Given the description of an element on the screen output the (x, y) to click on. 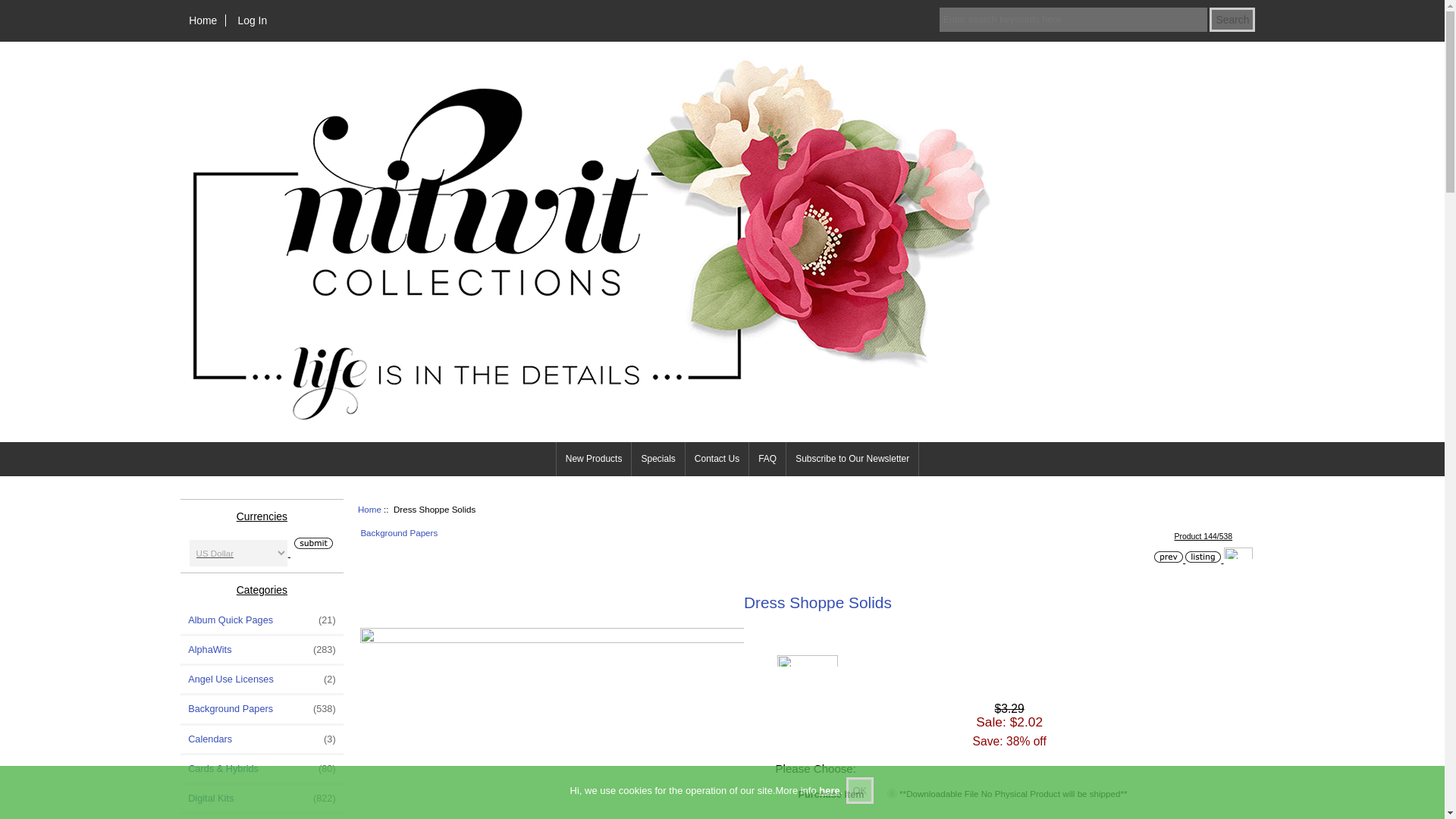
Go (311, 542)
FAQ (767, 458)
OK (859, 790)
Search (1232, 19)
Return to the Product List (1203, 556)
Log In (251, 20)
Subscribe to Our Newsletter (852, 458)
New Products (593, 458)
1 (891, 793)
